Given the description of an element on the screen output the (x, y) to click on. 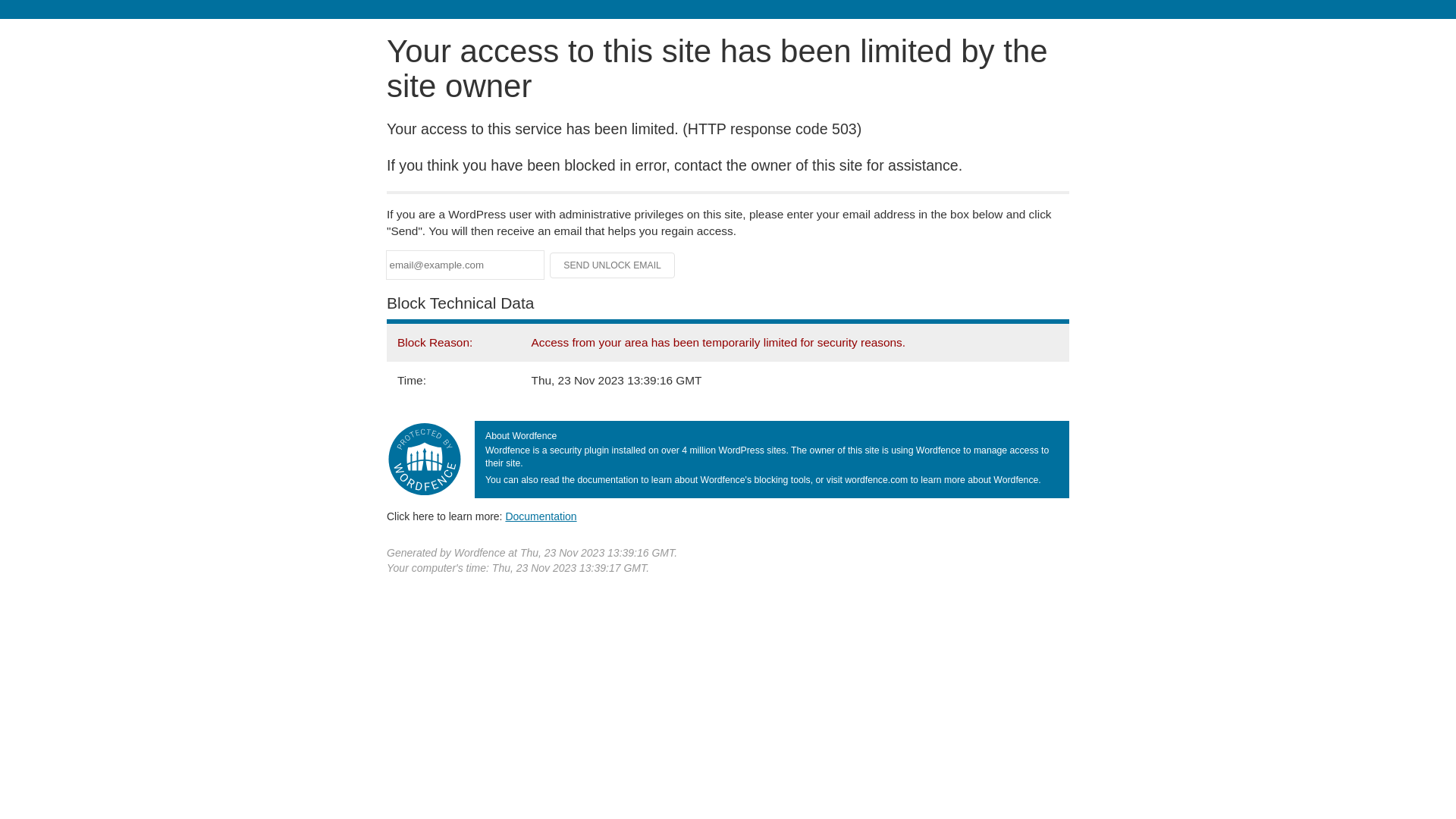
Send Unlock Email Element type: text (612, 265)
Documentation Element type: text (540, 516)
